Given the description of an element on the screen output the (x, y) to click on. 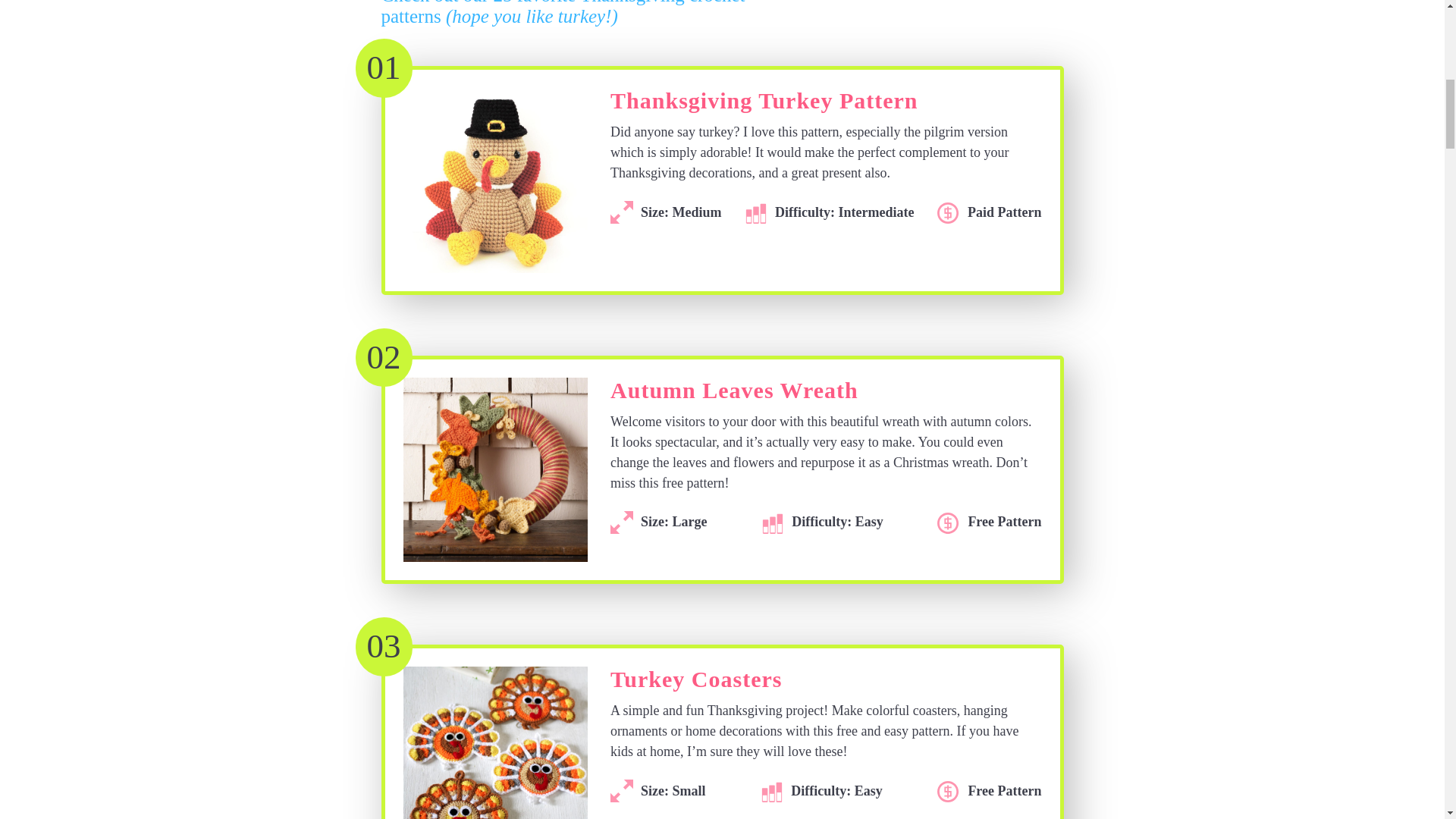
Turkey Coasters (695, 683)
Autumn Leaves Wreath (734, 394)
Thanksgiving Turkey Pattern (763, 104)
